Given the description of an element on the screen output the (x, y) to click on. 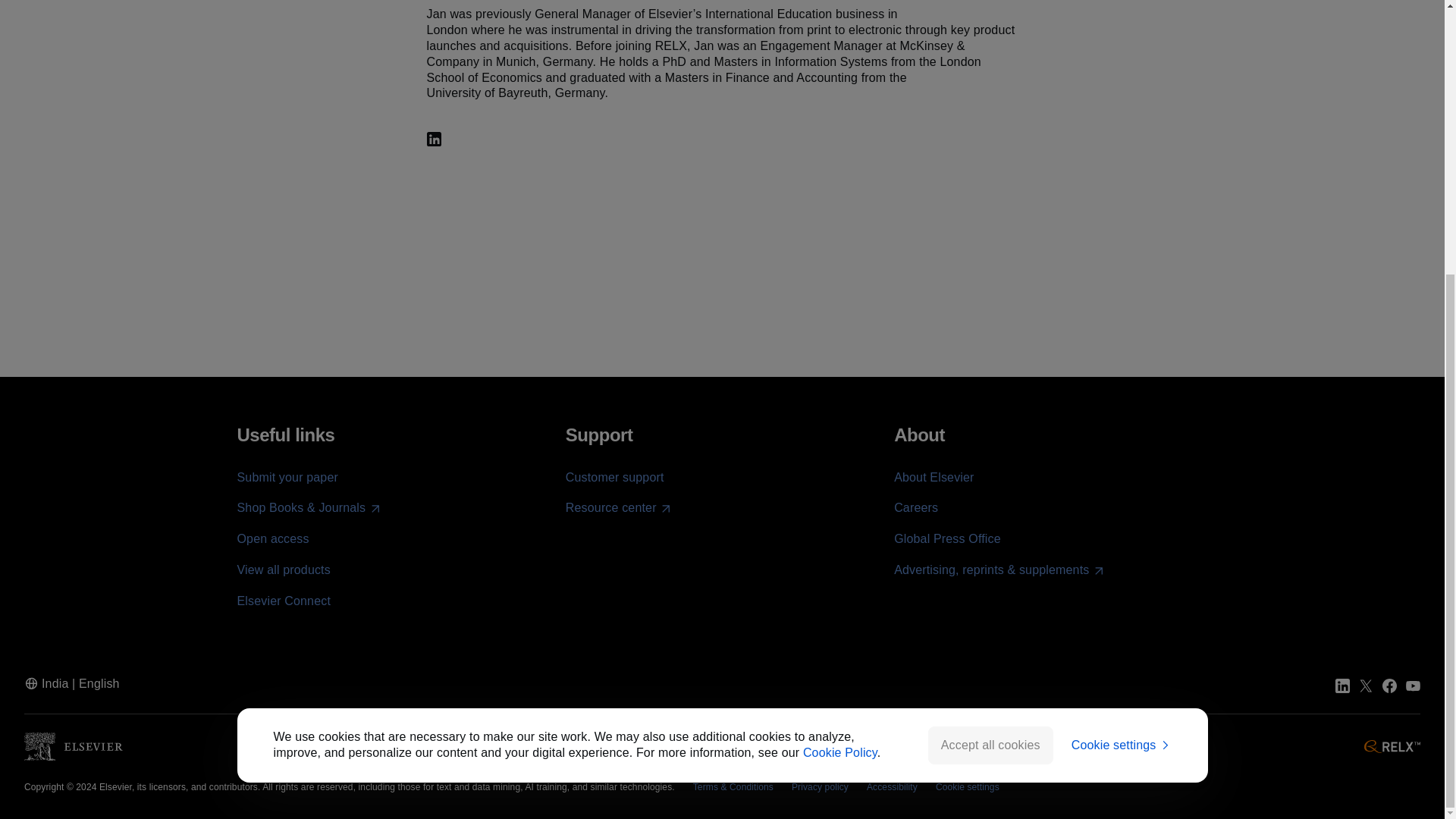
Customer support (614, 477)
Resource center (618, 508)
Elsevier Connect (282, 600)
Open access (271, 538)
Submit your paper (286, 477)
Accept all cookies (990, 340)
Cookie settings (1121, 340)
Cookie Policy (840, 347)
About Elsevier (933, 477)
View all products (282, 569)
